Given the description of an element on the screen output the (x, y) to click on. 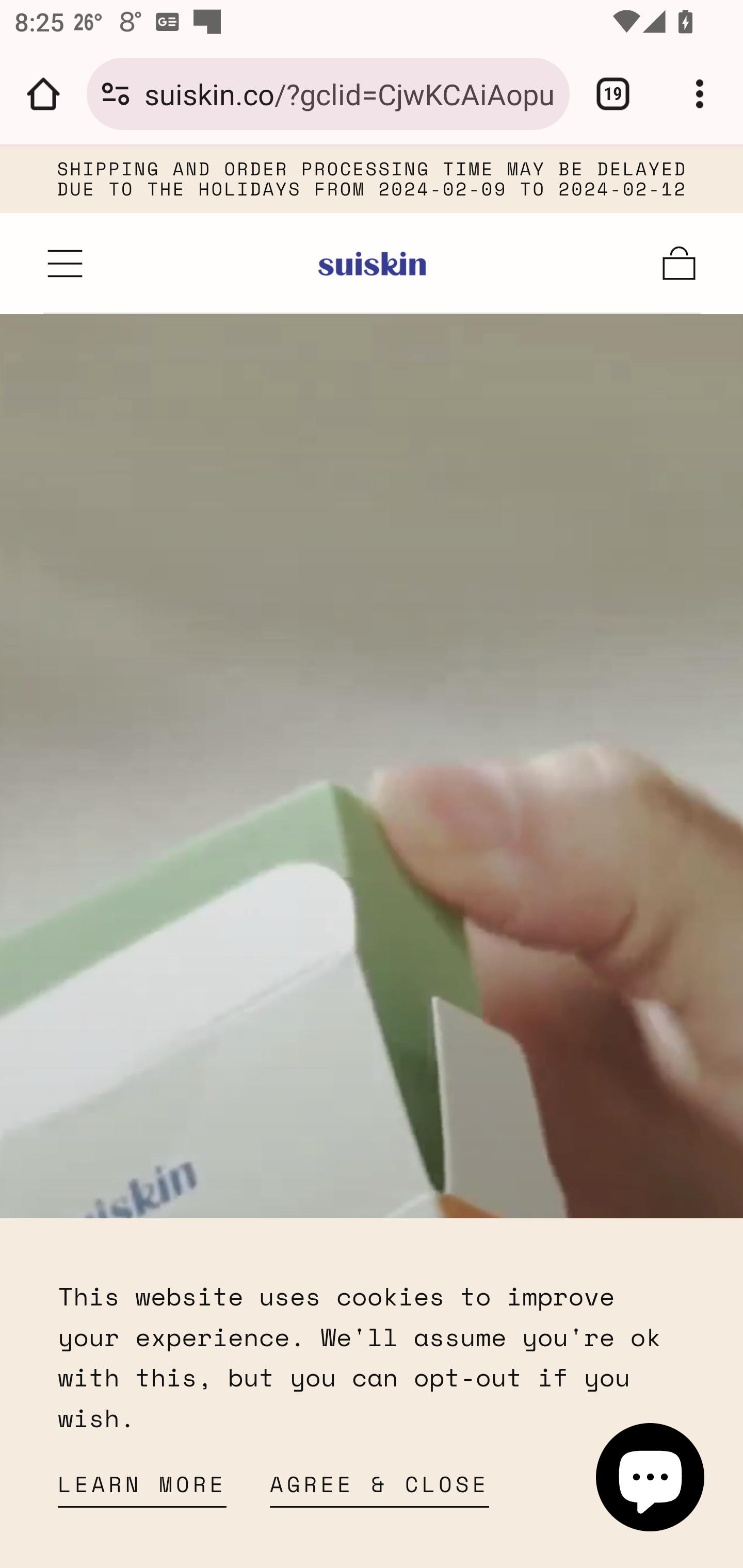
Open the home page (43, 93)
Connection is secure (115, 93)
Switch or close tabs (612, 93)
Customize and control Google Chrome (699, 93)
Skip to content (162, 189)
Toggle menu drawer (65, 263)
Cart (679, 263)
suiskin suiskin suiskin   suiskin (372, 262)
Chat window (650, 1476)
LEARN MORE (142, 1489)
AGREE & CLOSE (379, 1489)
